Given the description of an element on the screen output the (x, y) to click on. 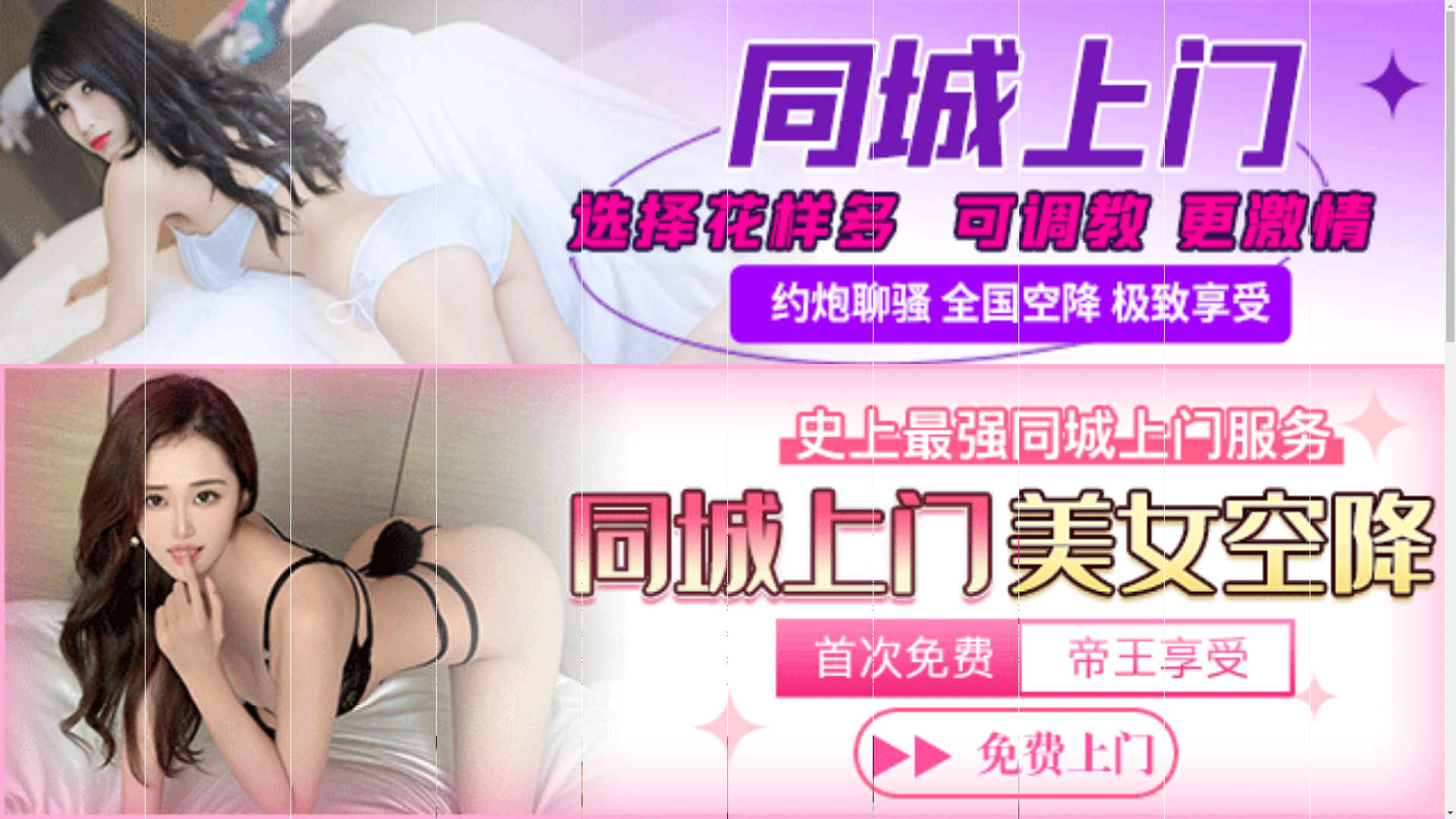
COS Element type: text (835, 646)
Korean Element type: text (700, 620)
91 Element type: text (567, 594)
3P Element type: text (968, 620)
91TV Element type: hover (1240, 593)
SM Element type: text (1013, 620)
